Given the description of an element on the screen output the (x, y) to click on. 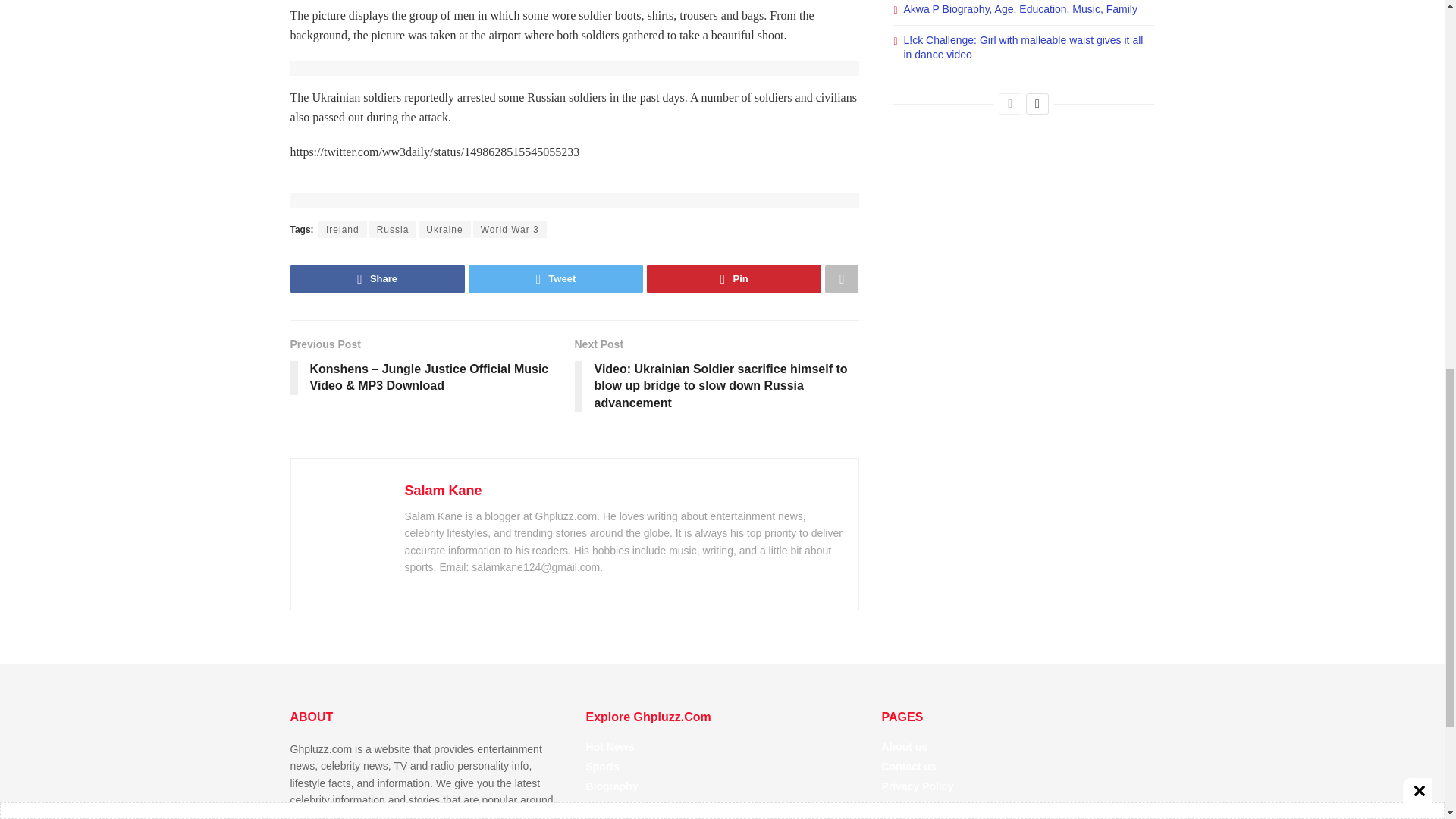
Pin (733, 278)
Tweet (555, 278)
Share (376, 278)
Next (1037, 103)
Ukraine (444, 229)
Russia (392, 229)
Salam Kane (442, 490)
Ireland (342, 229)
Previous (1010, 103)
World War 3 (510, 229)
